Given the description of an element on the screen output the (x, y) to click on. 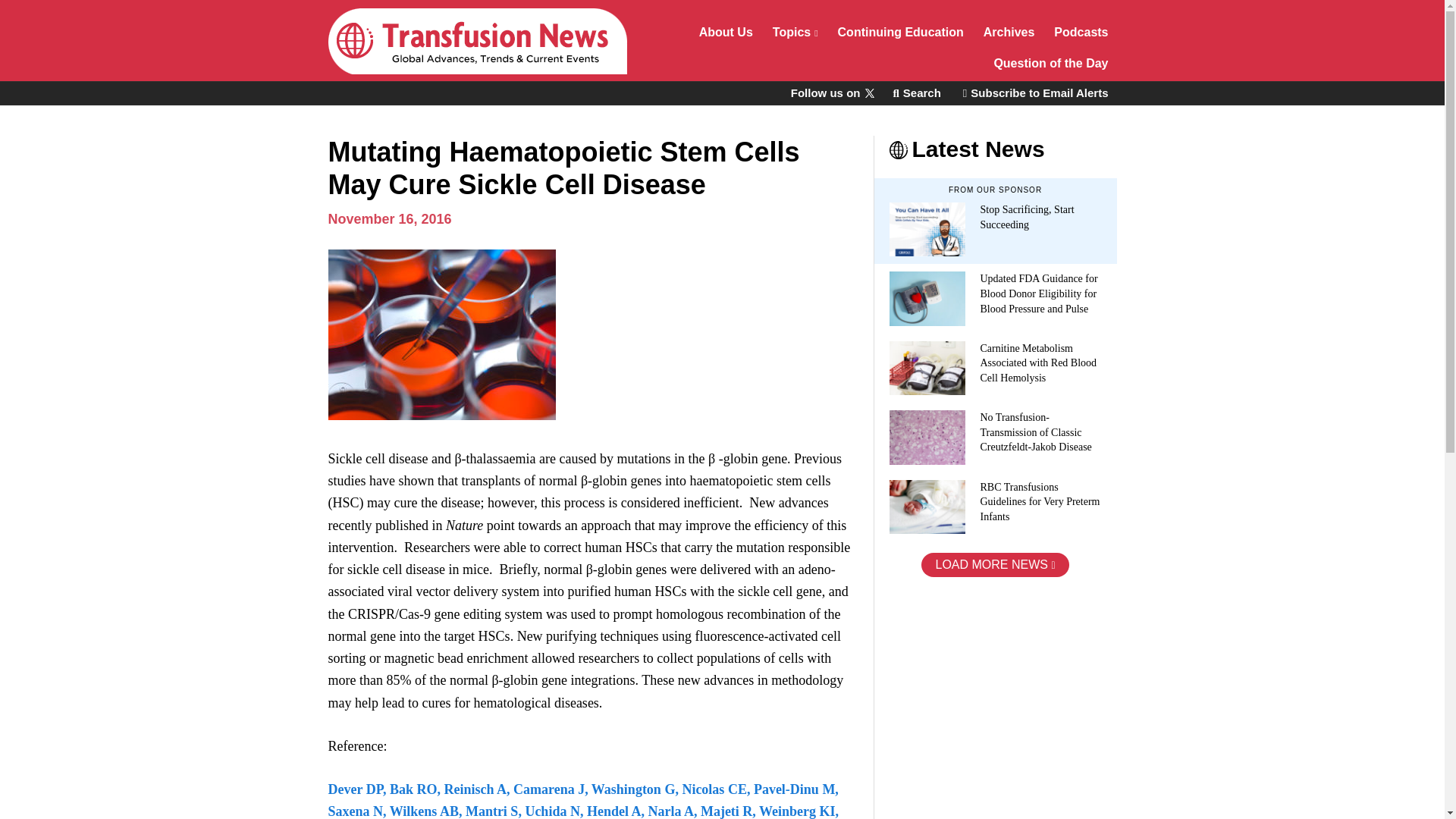
Question of the Day (1050, 65)
Podcasts (1080, 33)
Topics (795, 33)
About Us (725, 33)
3rd party ad content (986, 698)
Transfusion News (476, 41)
Continuing Education (900, 33)
Search (915, 93)
Archives (1009, 33)
